Given the description of an element on the screen output the (x, y) to click on. 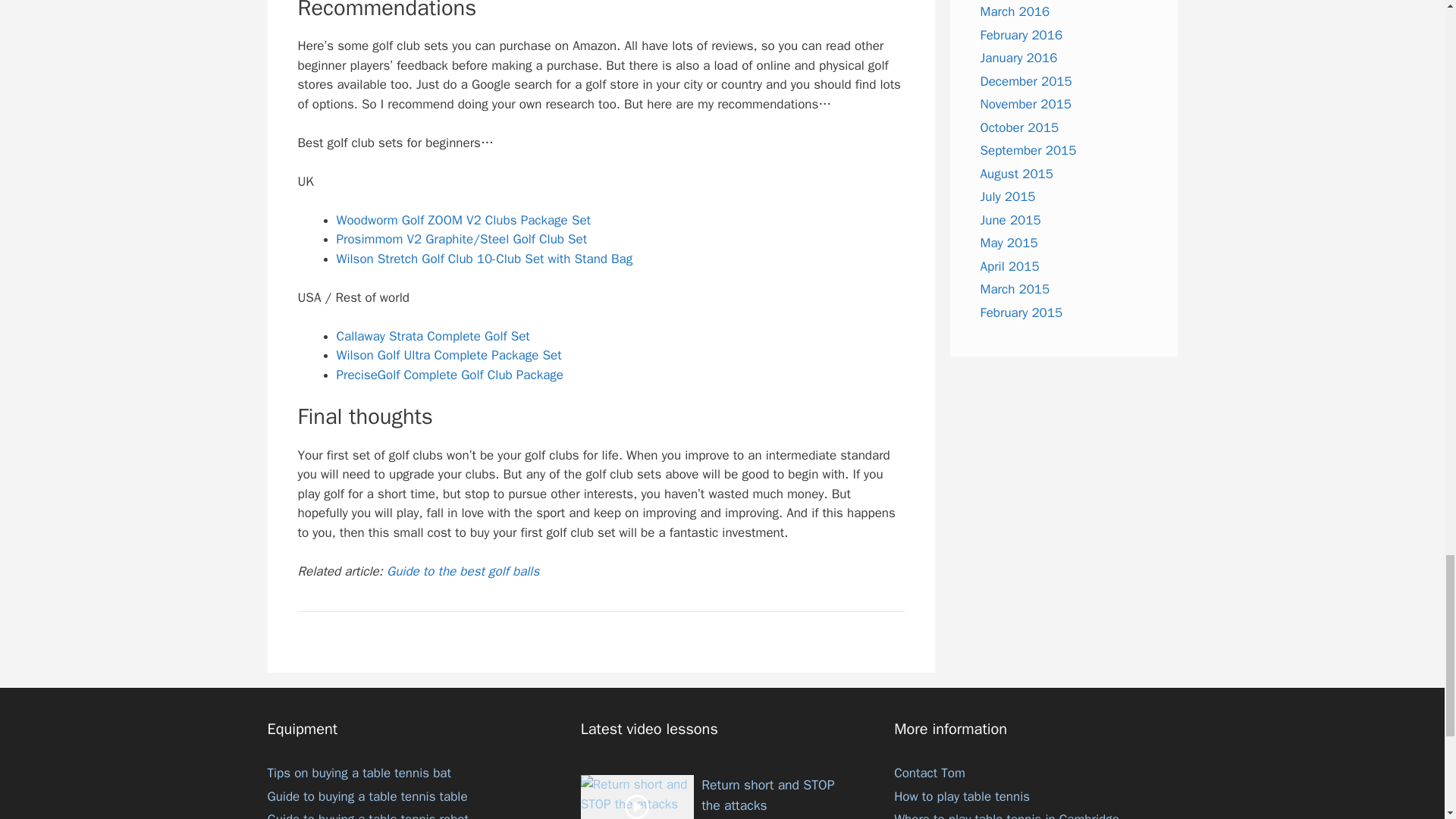
Woodworm Golf ZOOM V2 Clubs Package Set (463, 220)
Callaway Strata Complete Golf Set (432, 335)
Wilson Golf Ultra Complete Package Set (449, 355)
Wilson Stretch Golf Club 10-Club Set with Stand Bag (484, 258)
